Given the description of an element on the screen output the (x, y) to click on. 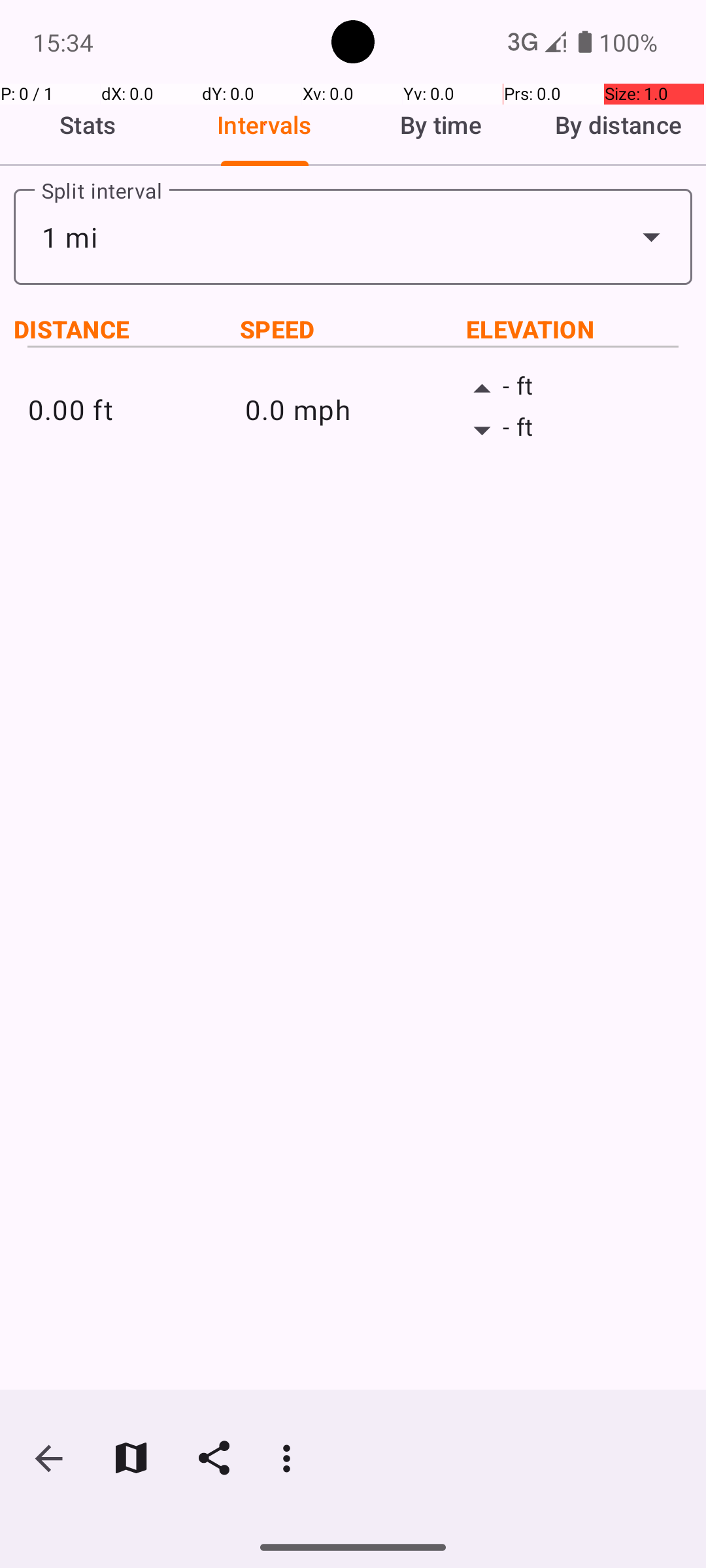
1 mi Element type: android.widget.Spinner (352, 236)
DISTANCE Element type: android.widget.TextView (126, 328)
SPEED Element type: android.widget.TextView (352, 328)
ELEVATION Element type: android.widget.TextView (579, 328)
0.00 ft Element type: android.widget.TextView (135, 408)
0.0 mph Element type: android.widget.TextView (352, 408)
- ft Element type: android.widget.TextView (569, 388)
